Given the description of an element on the screen output the (x, y) to click on. 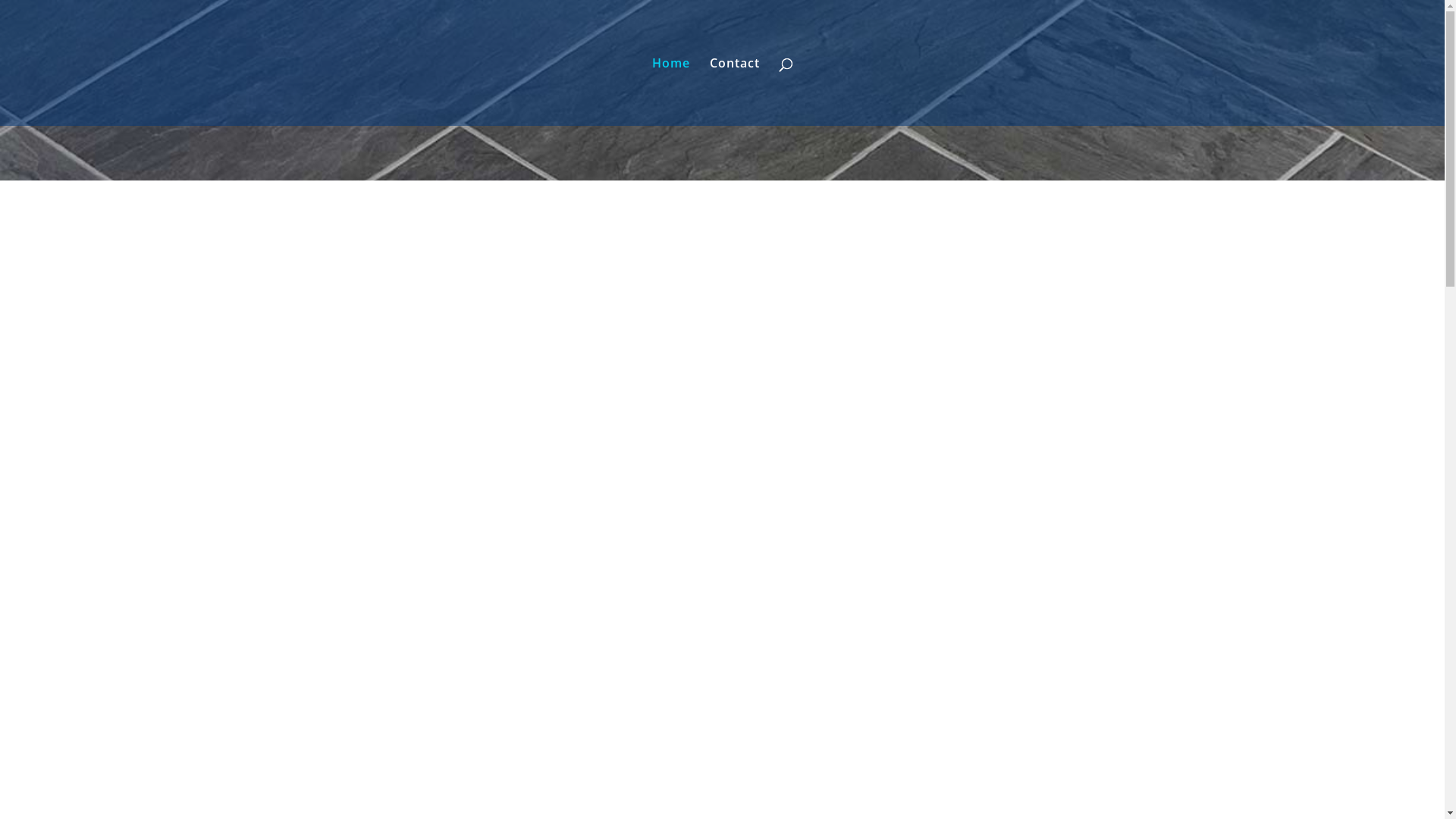
Home Element type: text (671, 91)
Contact Element type: text (734, 91)
